Given the description of an element on the screen output the (x, y) to click on. 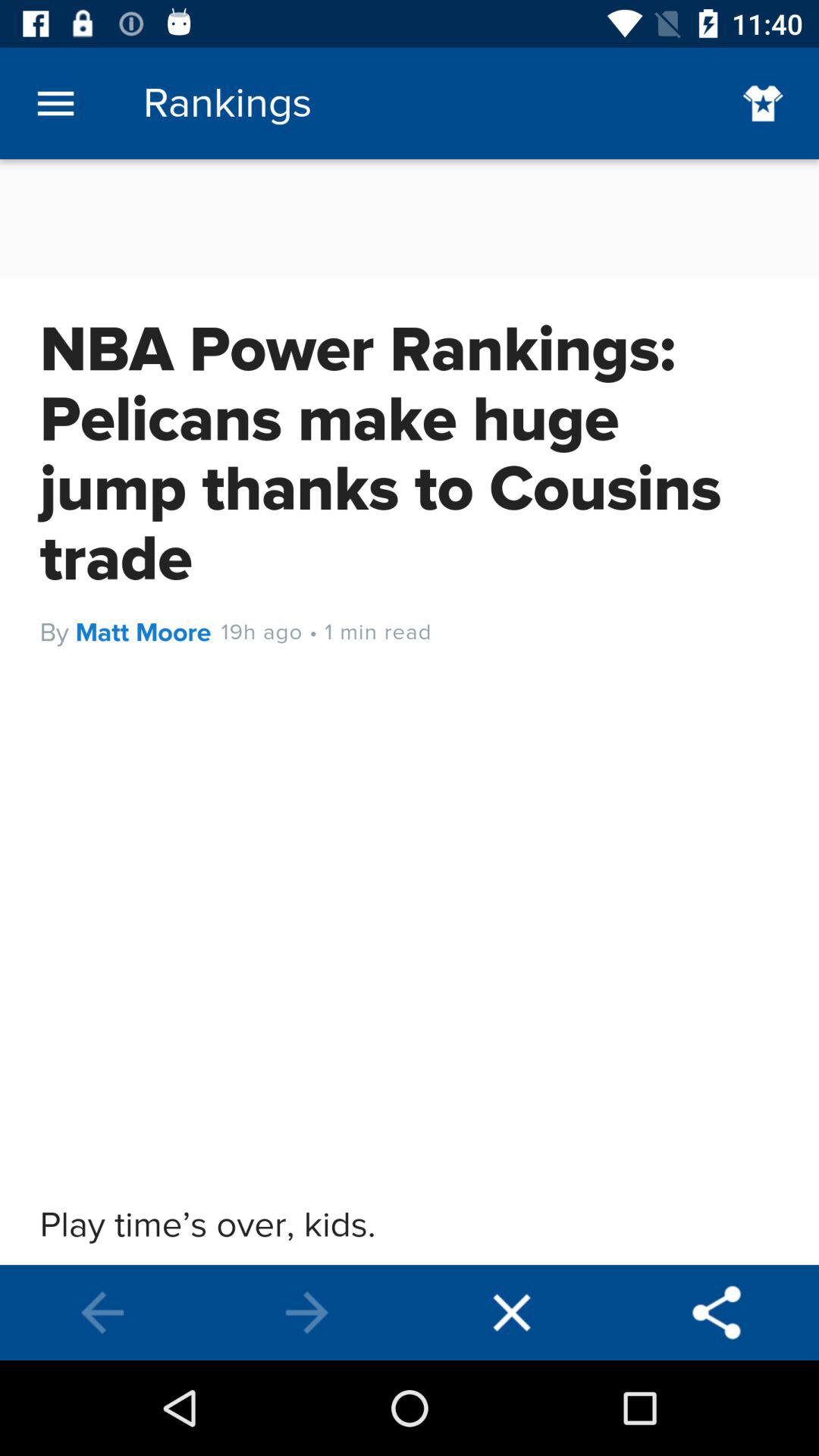
click to end session (511, 1312)
